Given the description of an element on the screen output the (x, y) to click on. 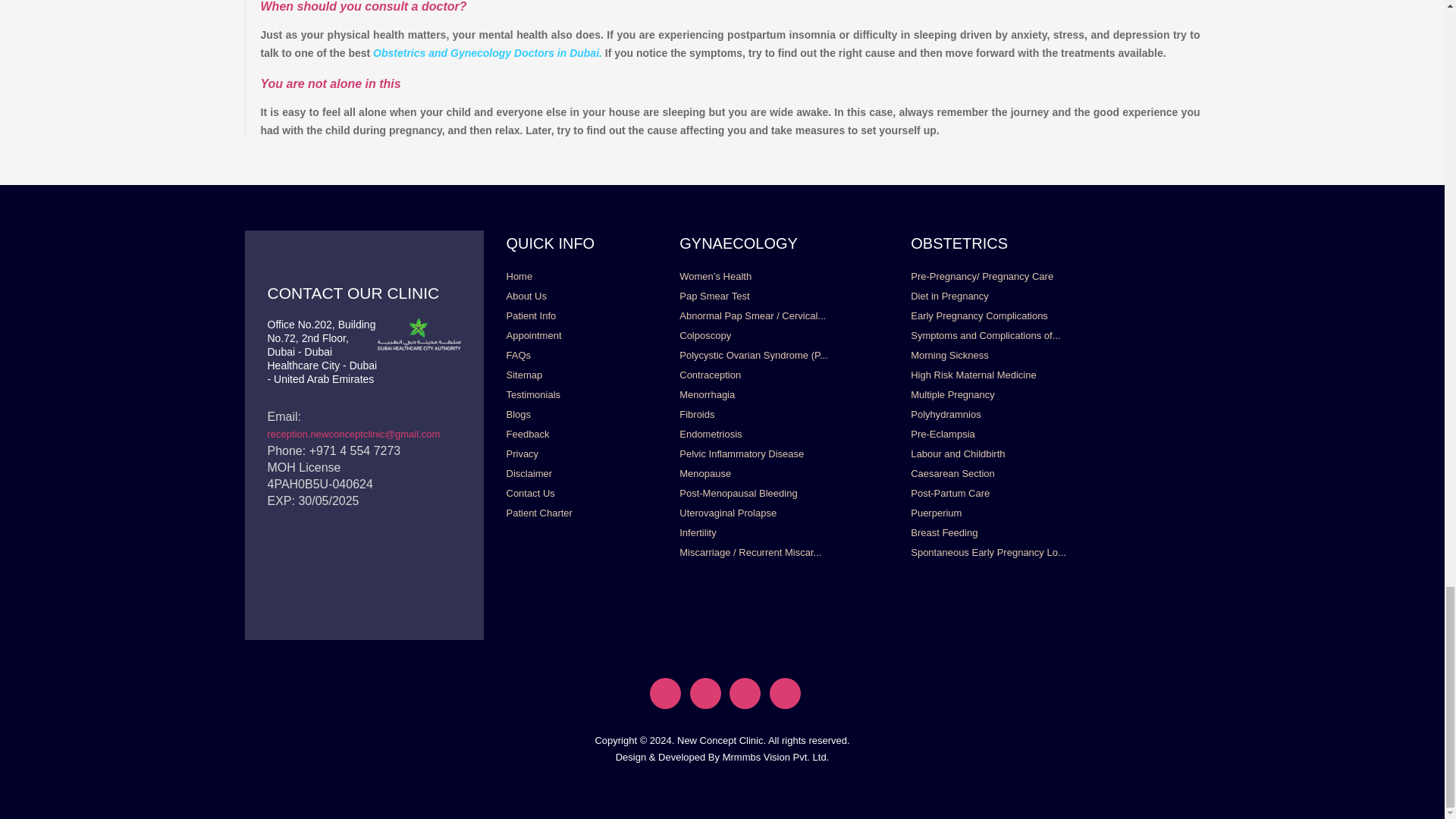
Obstetrics and Gynecology Doctors in Dubai. (488, 52)
FAQs (518, 355)
About Us (526, 296)
Appointment (534, 335)
Home (519, 276)
Sitemap (524, 374)
Patient Info (531, 315)
